Given the description of an element on the screen output the (x, y) to click on. 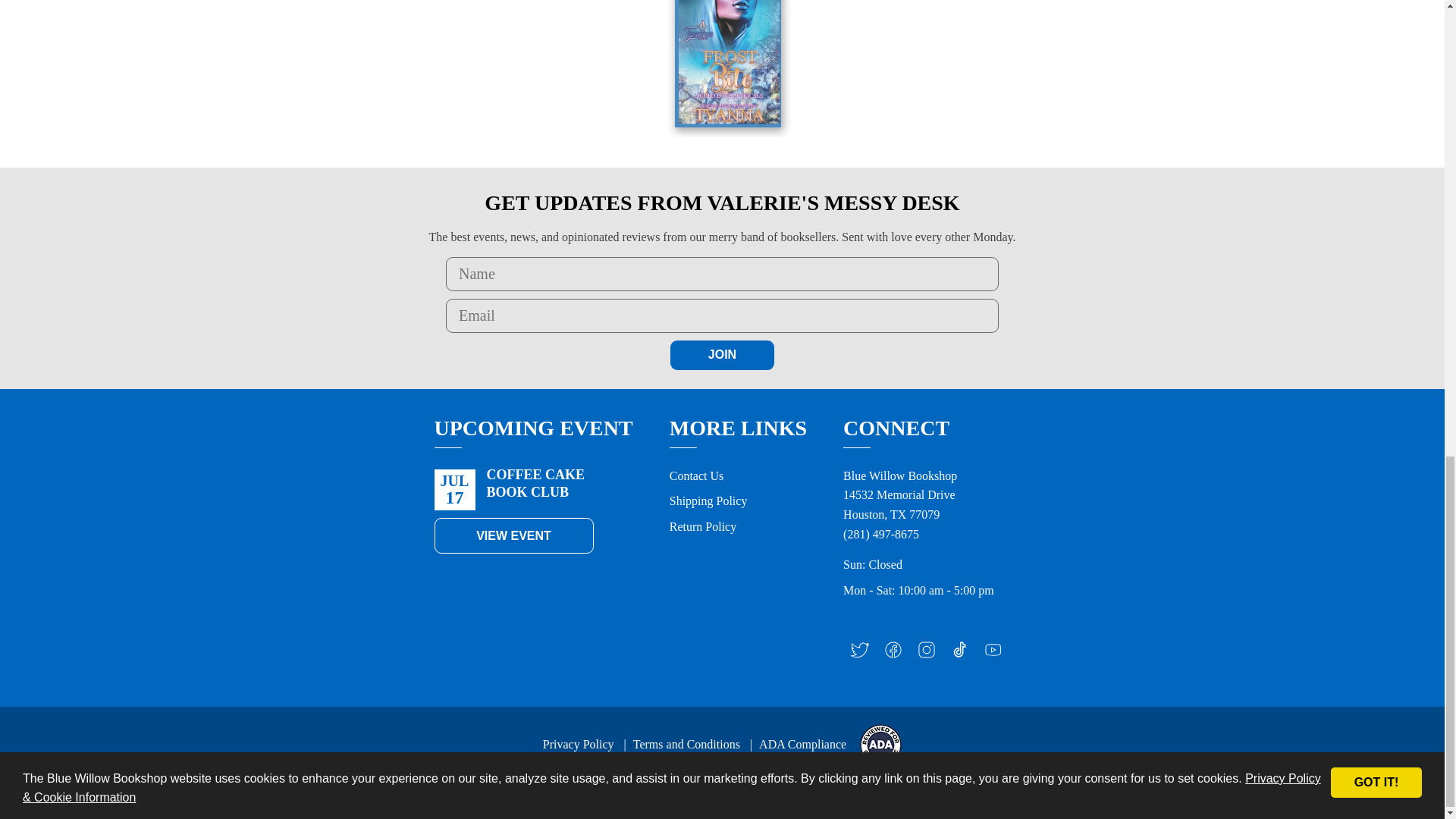
Connect with Tik Tok (959, 653)
Connect with Twitter (859, 653)
Join (721, 354)
Connect with Instagram (926, 653)
Connect with Youtube Channel (993, 653)
Connect with Facebook (892, 653)
